Given the description of an element on the screen output the (x, y) to click on. 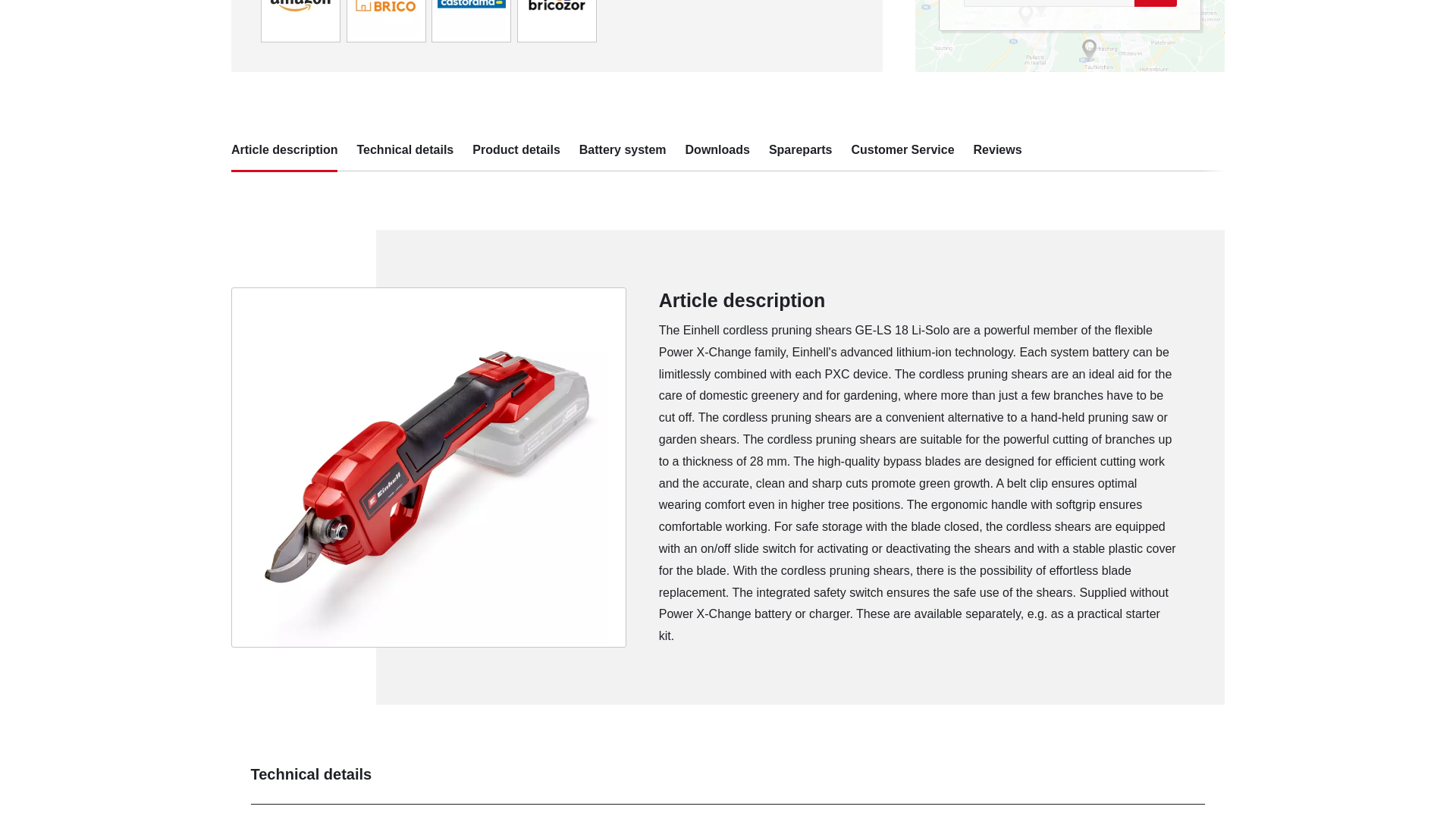
Bricozor (556, 3)
Centrale Brico (386, 3)
Amazon (300, 3)
Castorama (471, 3)
